Given the description of an element on the screen output the (x, y) to click on. 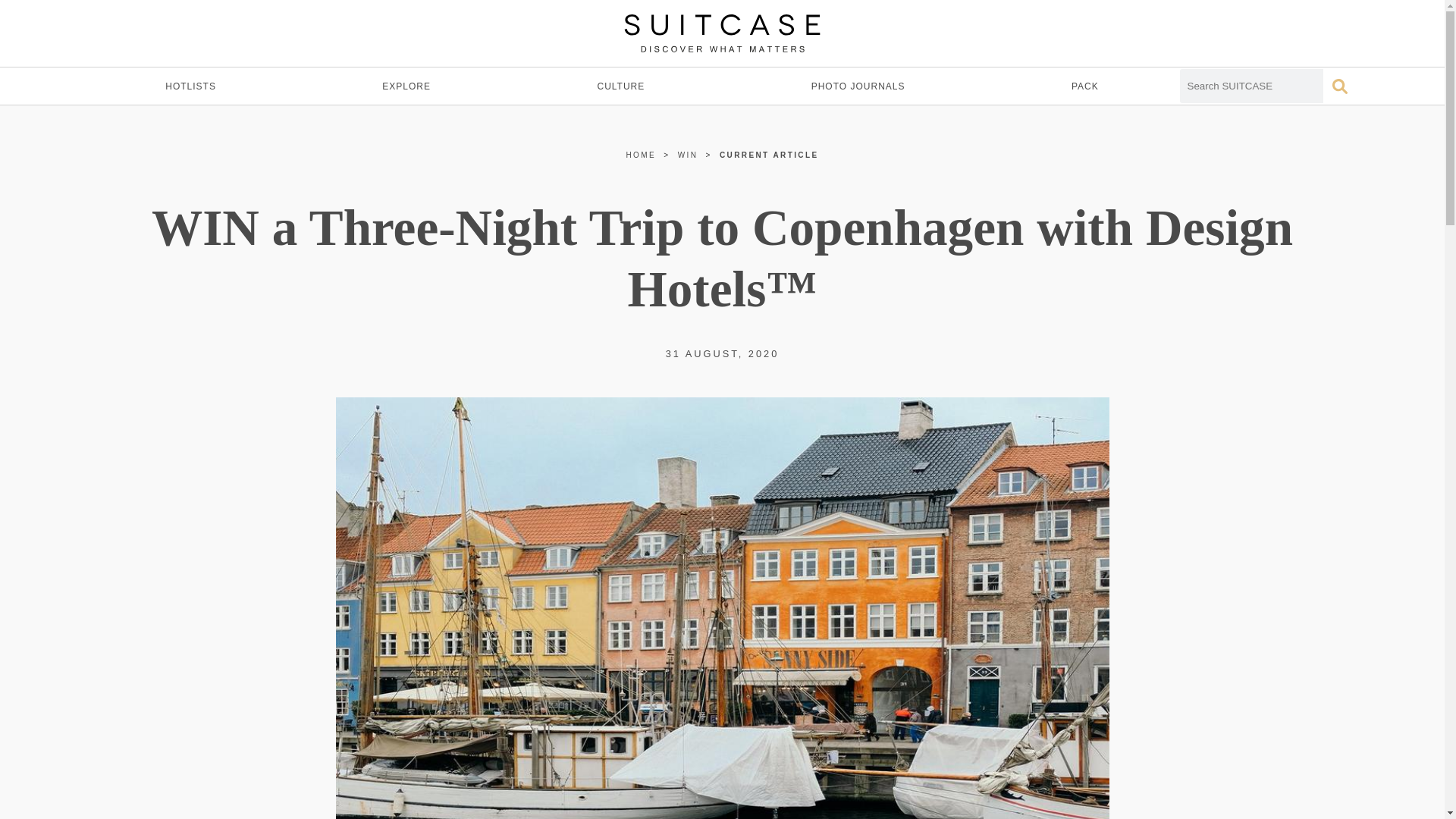
HOTLISTS (190, 85)
PACK (1085, 85)
CULTURE (619, 85)
HOME (641, 154)
CURRENT ARTICLE (768, 154)
WIN (688, 154)
EXPLORE (405, 85)
PHOTO JOURNALS (858, 85)
